Given the description of an element on the screen output the (x, y) to click on. 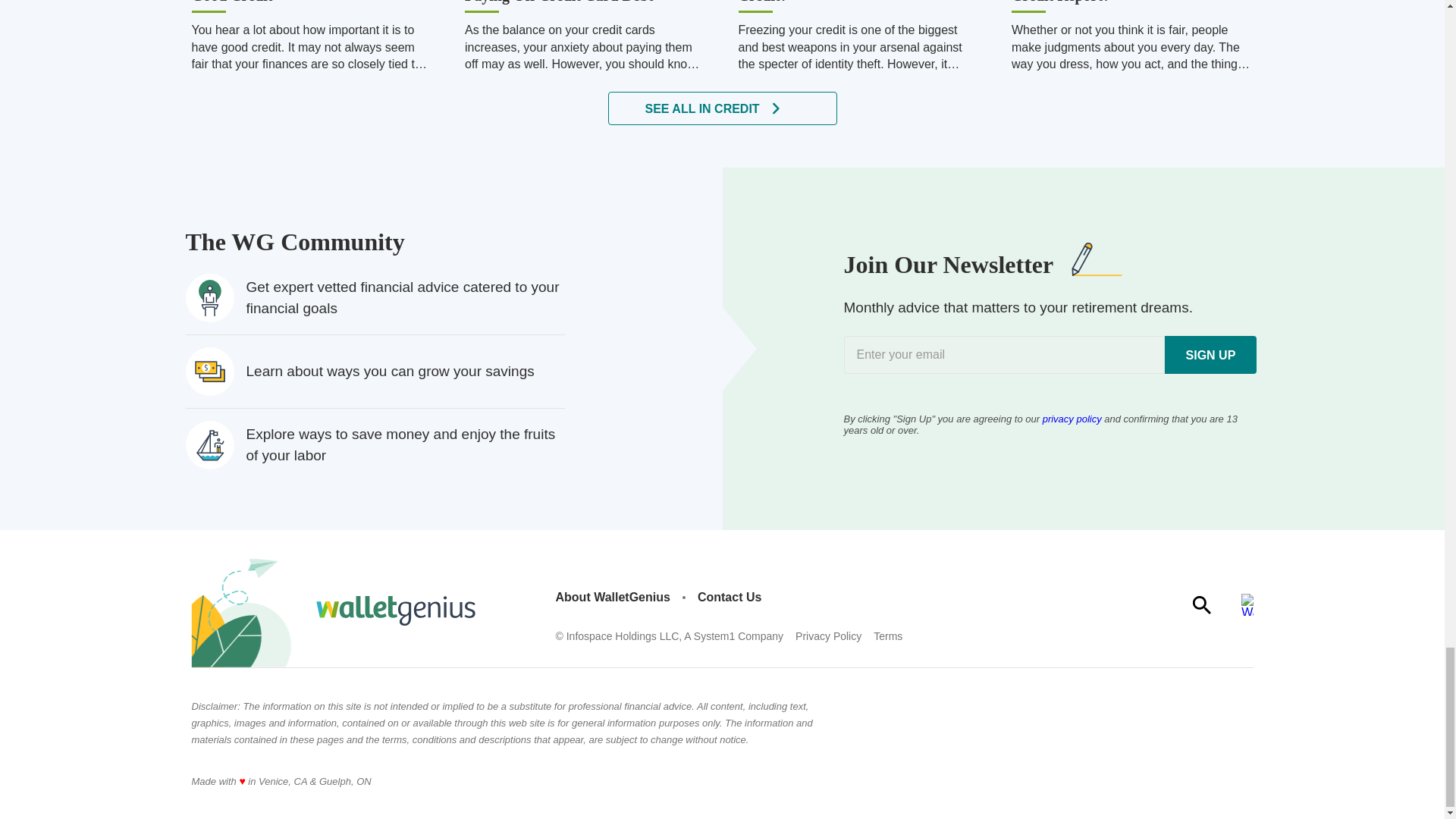
Join our Newsletter (1049, 354)
